Given the description of an element on the screen output the (x, y) to click on. 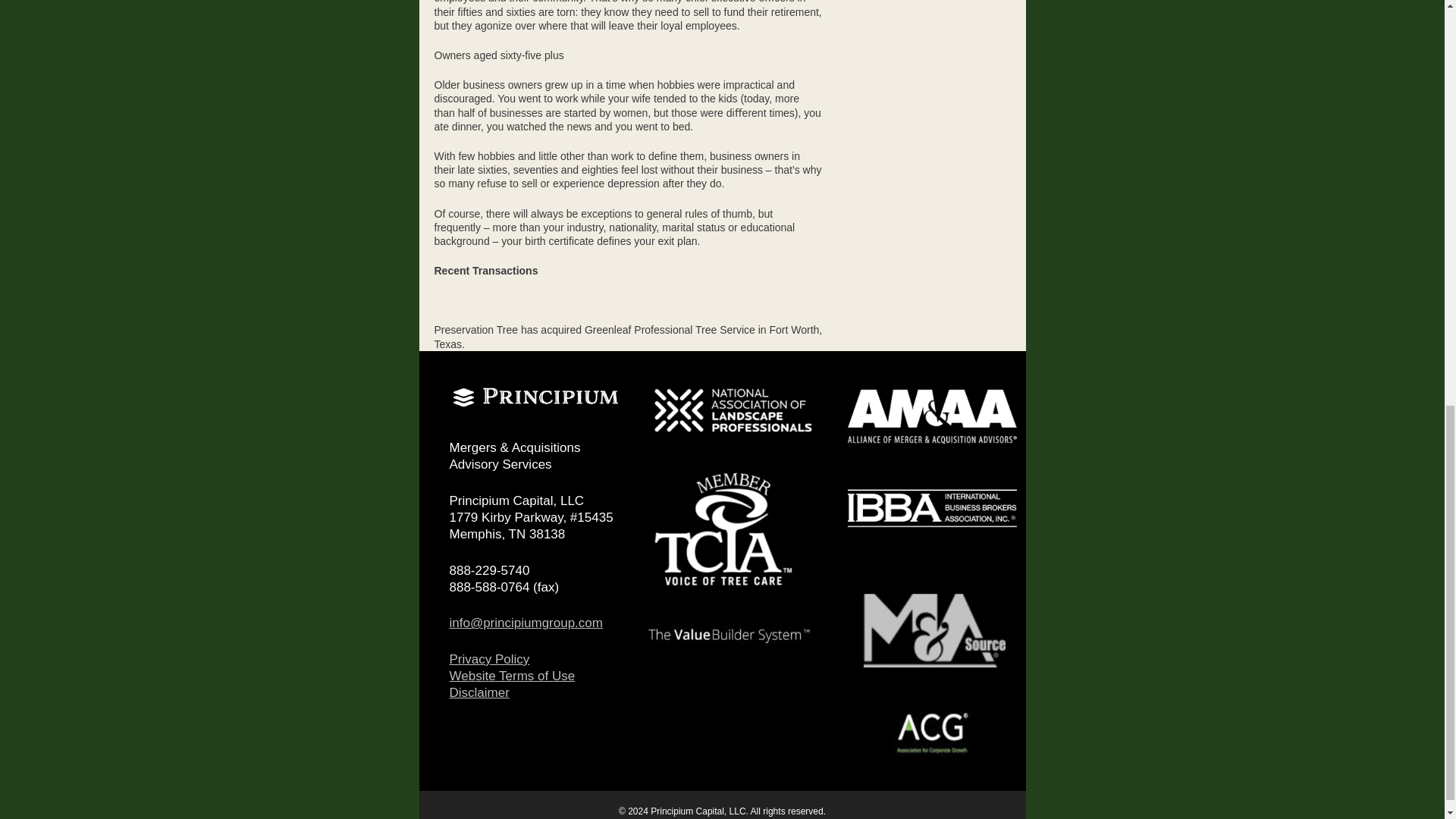
Scroll back to top (1406, 720)
